Given the description of an element on the screen output the (x, y) to click on. 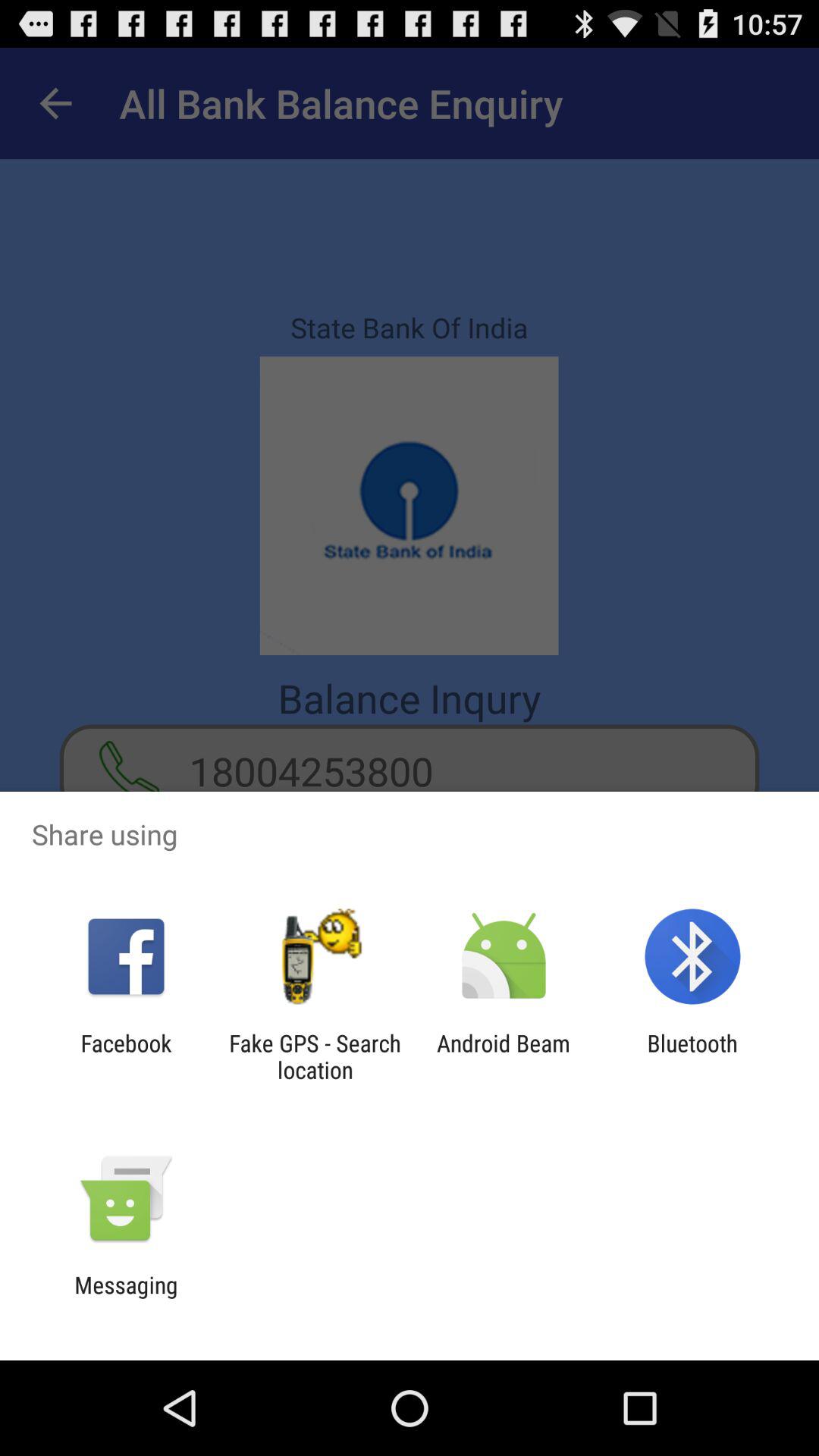
press fake gps search icon (314, 1056)
